Given the description of an element on the screen output the (x, y) to click on. 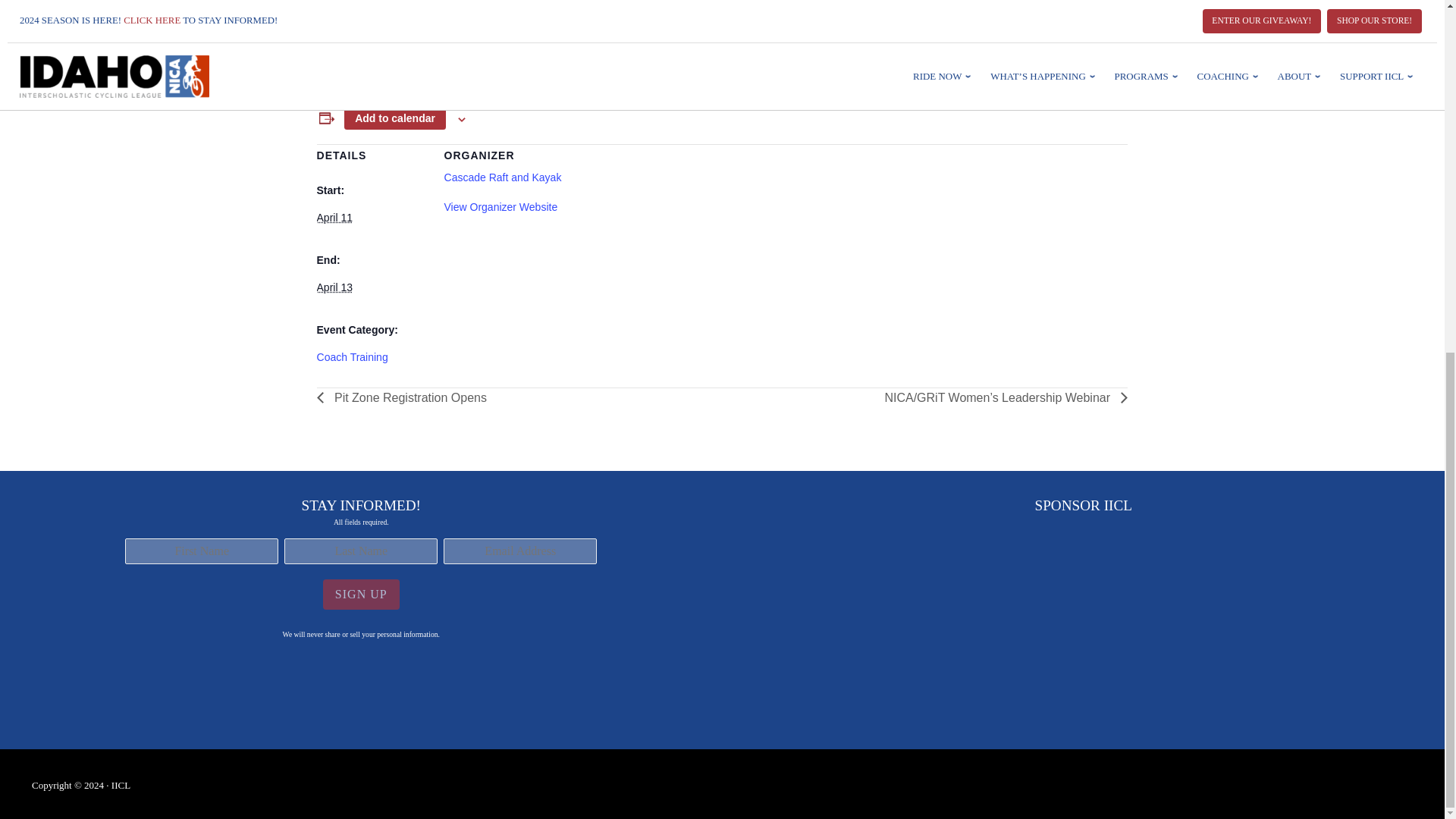
2024-04-11 (334, 217)
ID-oval (1082, 629)
Cascade Raft and Kayak (503, 177)
Sign Up (360, 594)
2024-04-13 (334, 287)
